Given the description of an element on the screen output the (x, y) to click on. 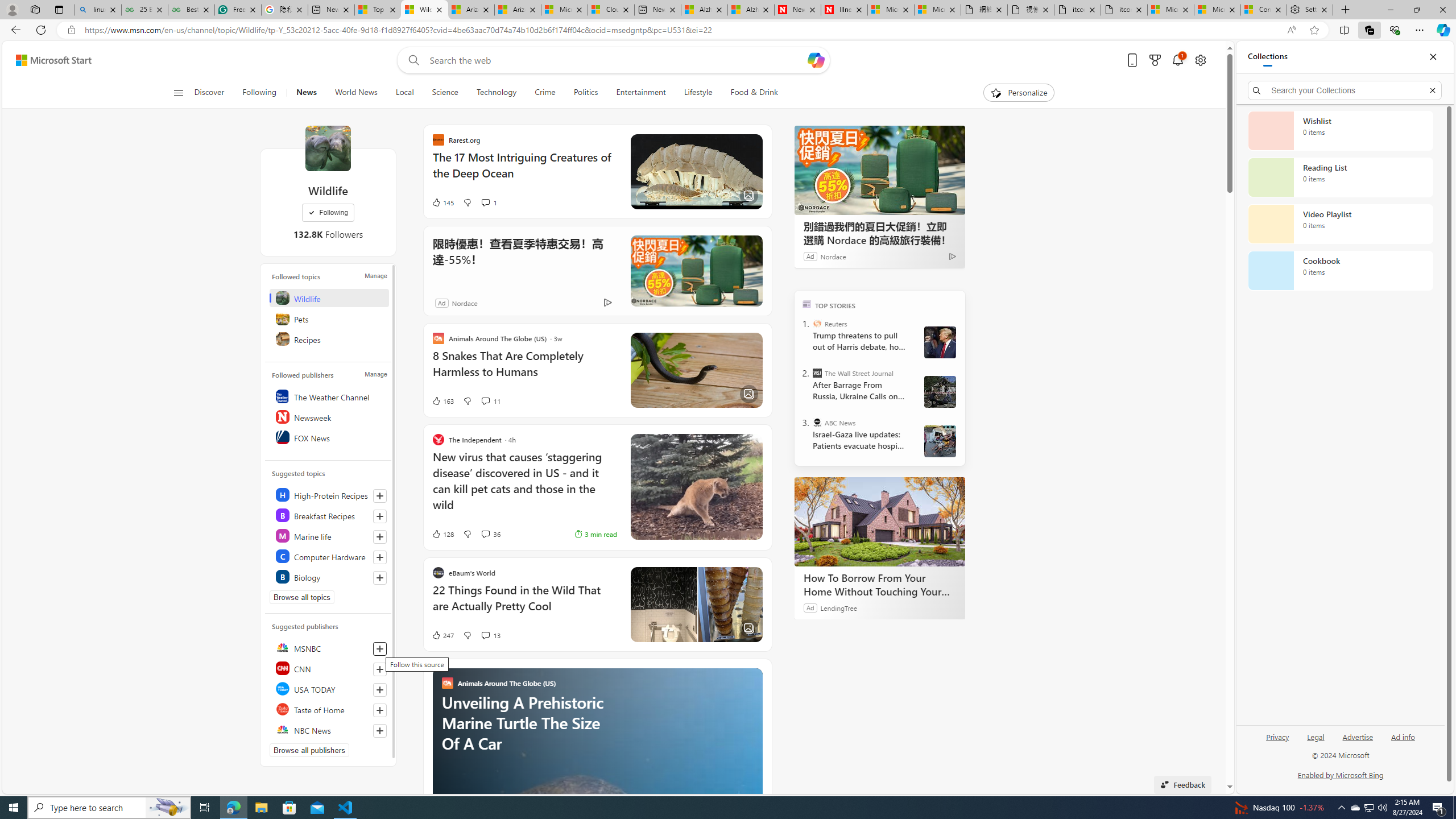
22 Things Found in the Wild That are Actually Pretty Cool (524, 603)
Newsweek (328, 416)
USA TODAY (328, 688)
